Given the description of an element on the screen output the (x, y) to click on. 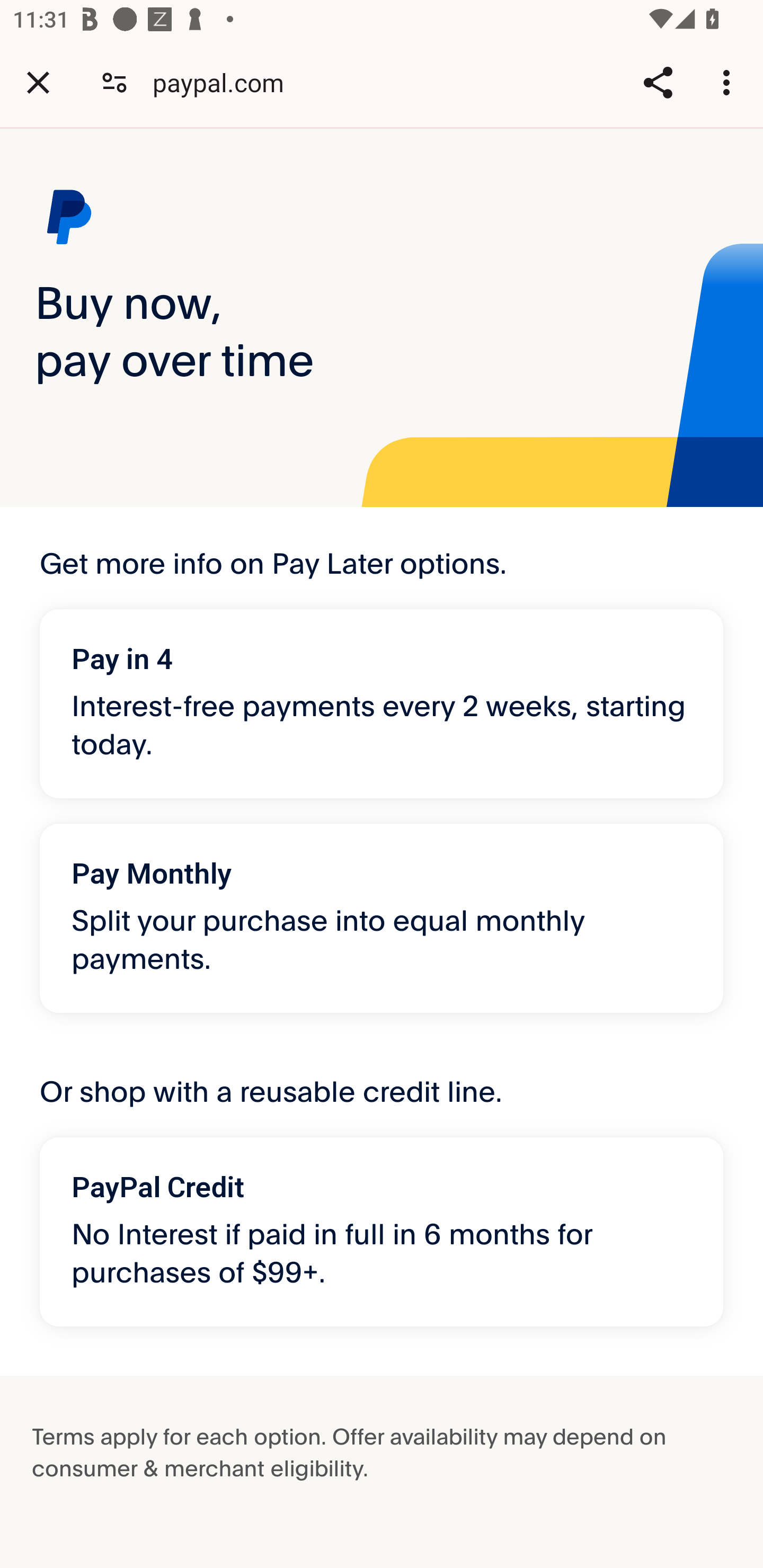
Close tab (38, 82)
Share (657, 82)
Customize and control Google Chrome (729, 82)
Connection is secure (114, 81)
paypal.com (224, 81)
